Given the description of an element on the screen output the (x, y) to click on. 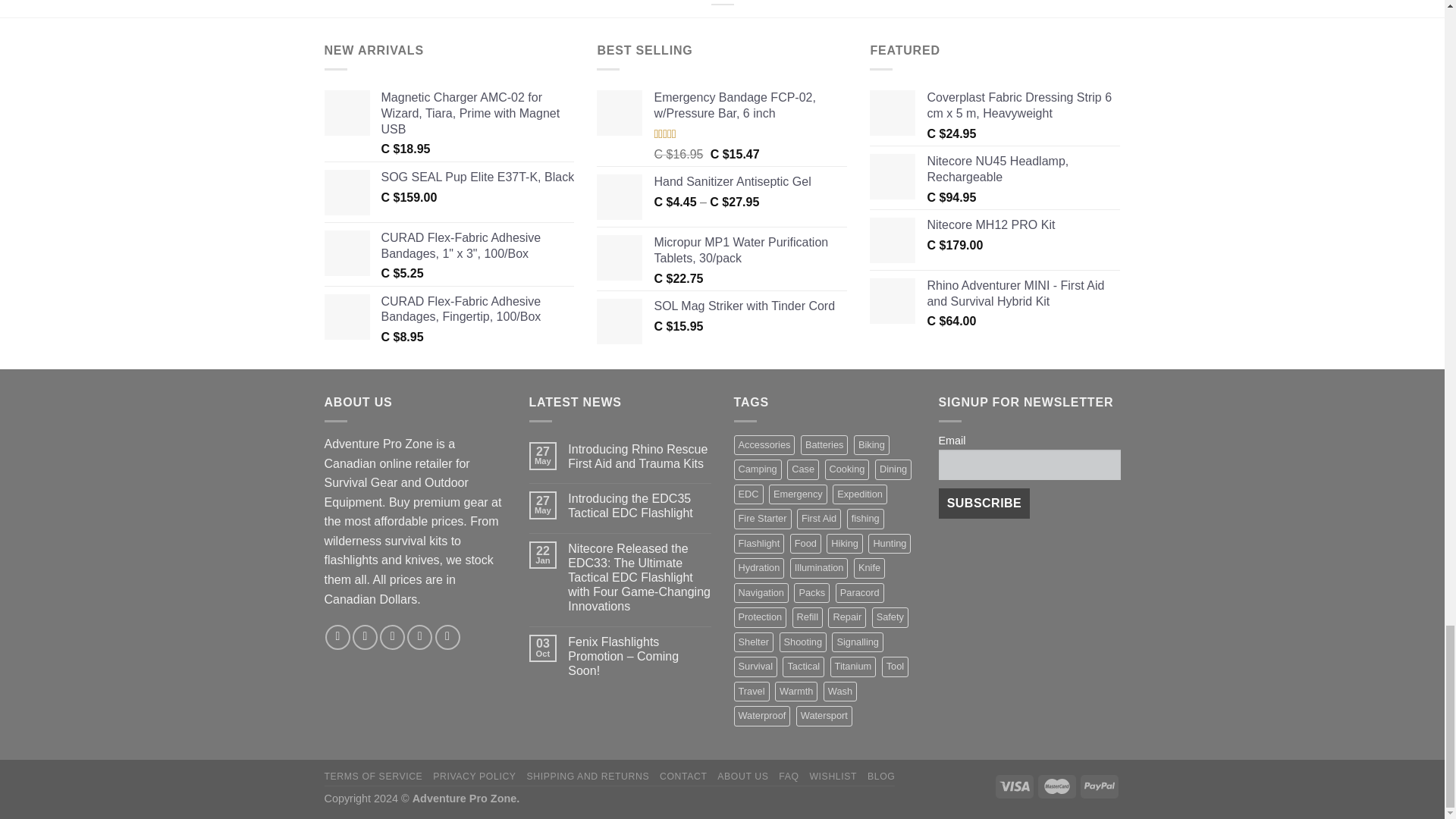
Introducing Rhino Rescue First Aid and Trauma Kits (638, 456)
Follow on Instagram (364, 637)
Send us an email (419, 637)
Follow on Pinterest (447, 637)
Introducing the EDC35 Tactical EDC Flashlight (638, 505)
Subscribe (984, 503)
Follow on Facebook (337, 637)
Follow on Twitter (392, 637)
